Given the description of an element on the screen output the (x, y) to click on. 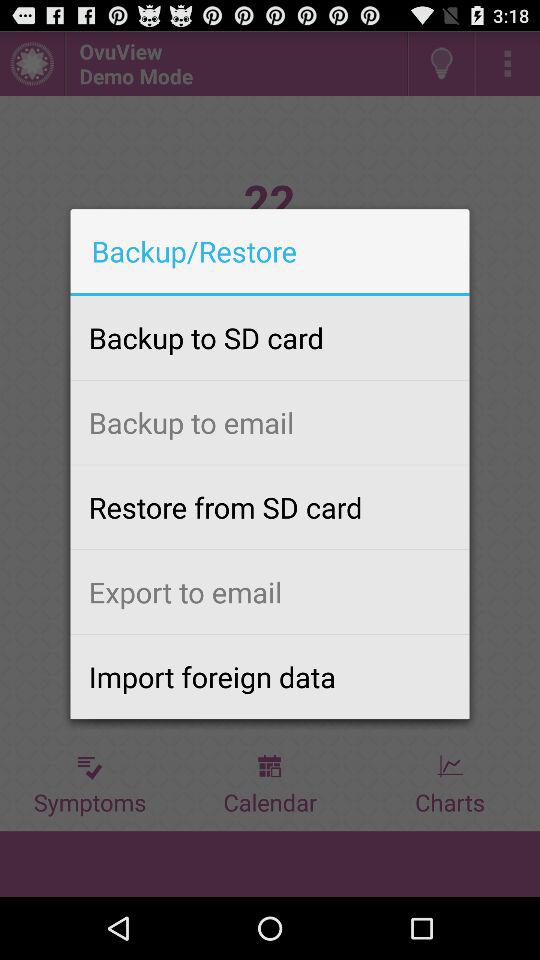
turn on restore from sd (269, 507)
